Given the description of an element on the screen output the (x, y) to click on. 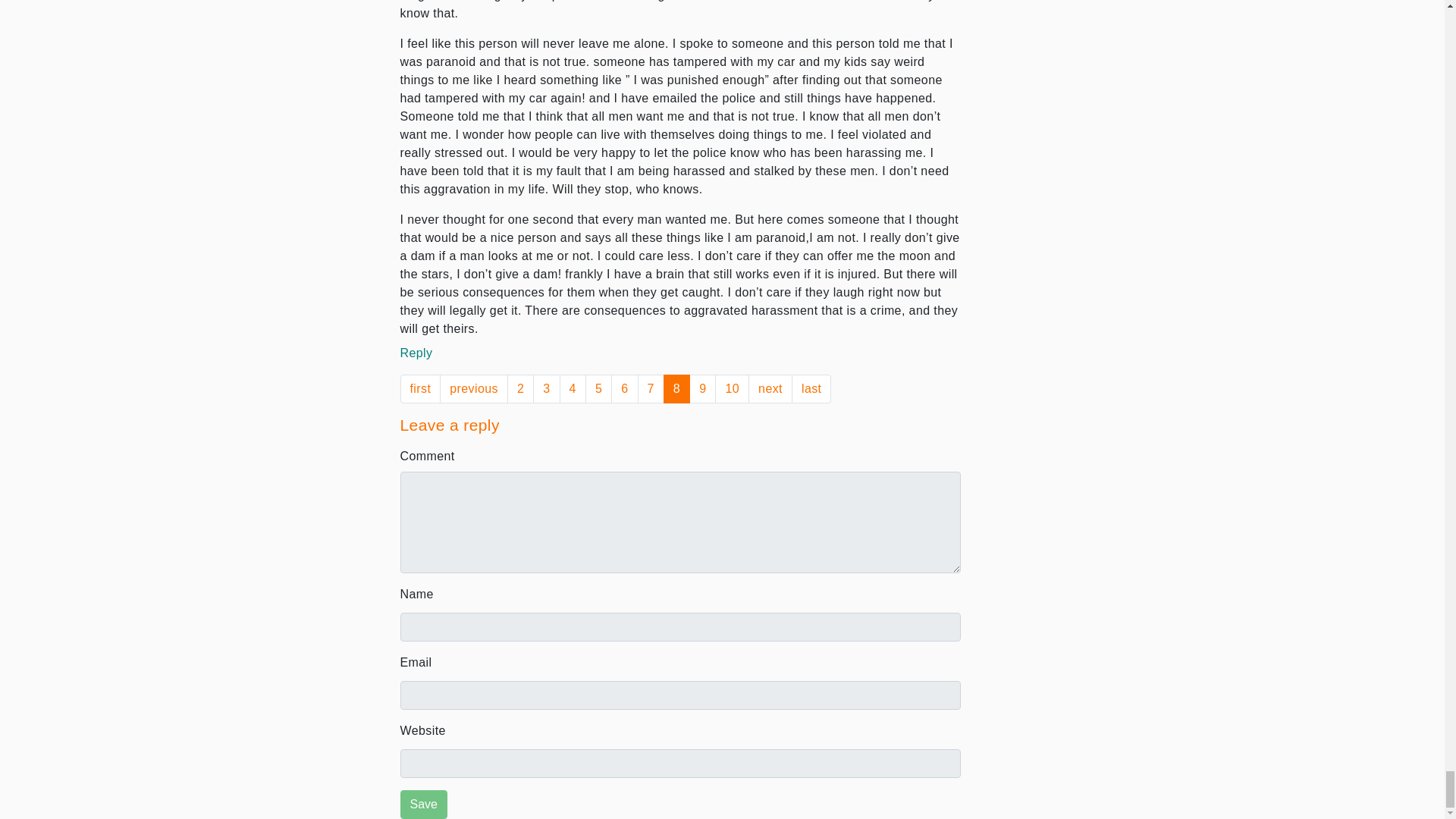
Go to page 9 (702, 388)
Go to page 7 (650, 388)
Go to page 4 (572, 388)
Go to first page (420, 388)
Current page (676, 388)
Go to next page (770, 388)
Go to previous page (473, 388)
Go to page 5 (598, 388)
Go to page 3 (545, 388)
Go to last page (811, 388)
Go to page 10 (731, 388)
Go to page 2 (520, 388)
Go to page 6 (624, 388)
